Given the description of an element on the screen output the (x, y) to click on. 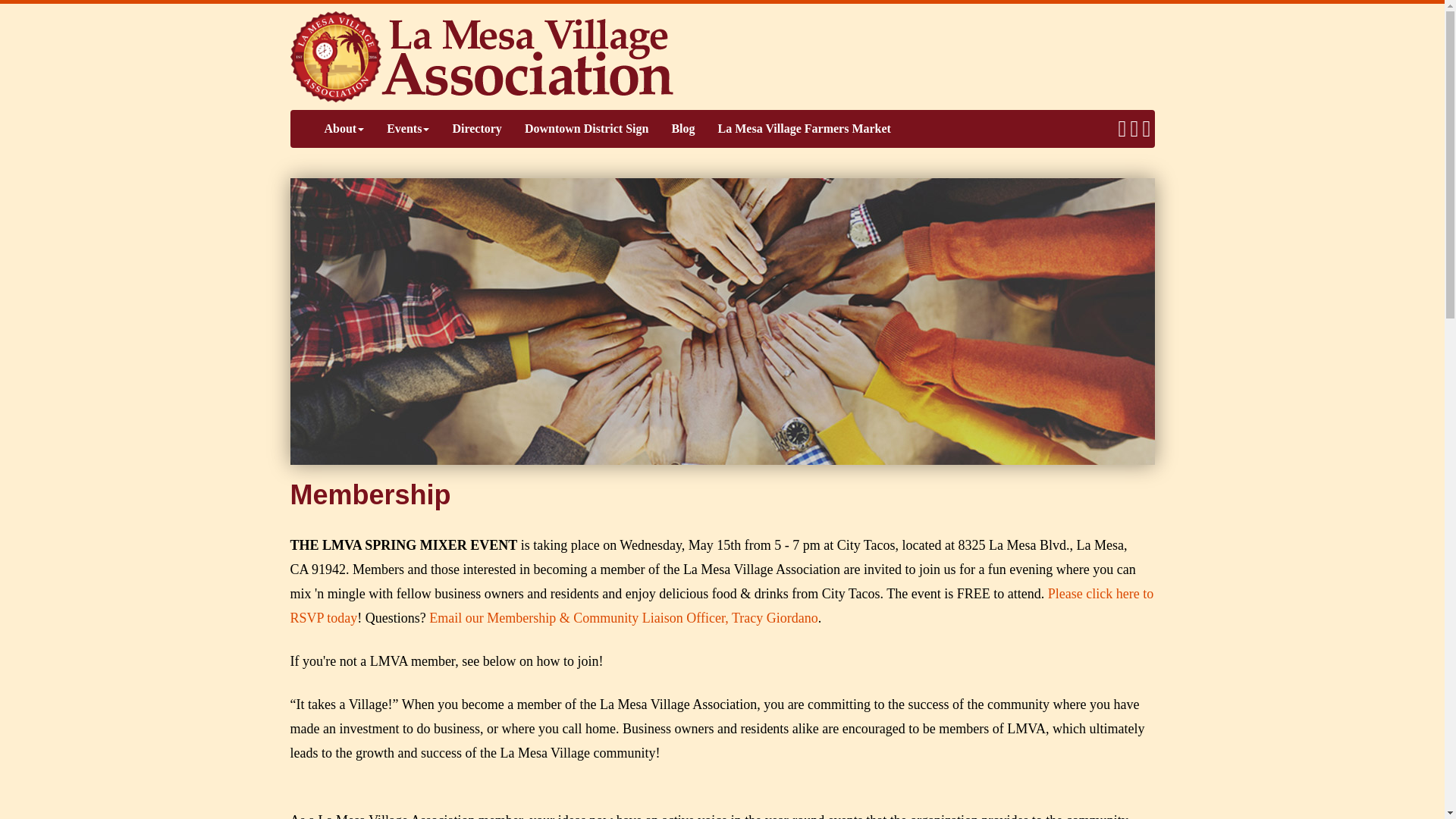
Events (408, 128)
Downtown District Sign (587, 128)
Blog (682, 128)
Please click here to RSVP today (721, 605)
Directory (476, 128)
Home (480, 55)
About (344, 128)
La Mesa Village Farmers Market (804, 128)
